Given the description of an element on the screen output the (x, y) to click on. 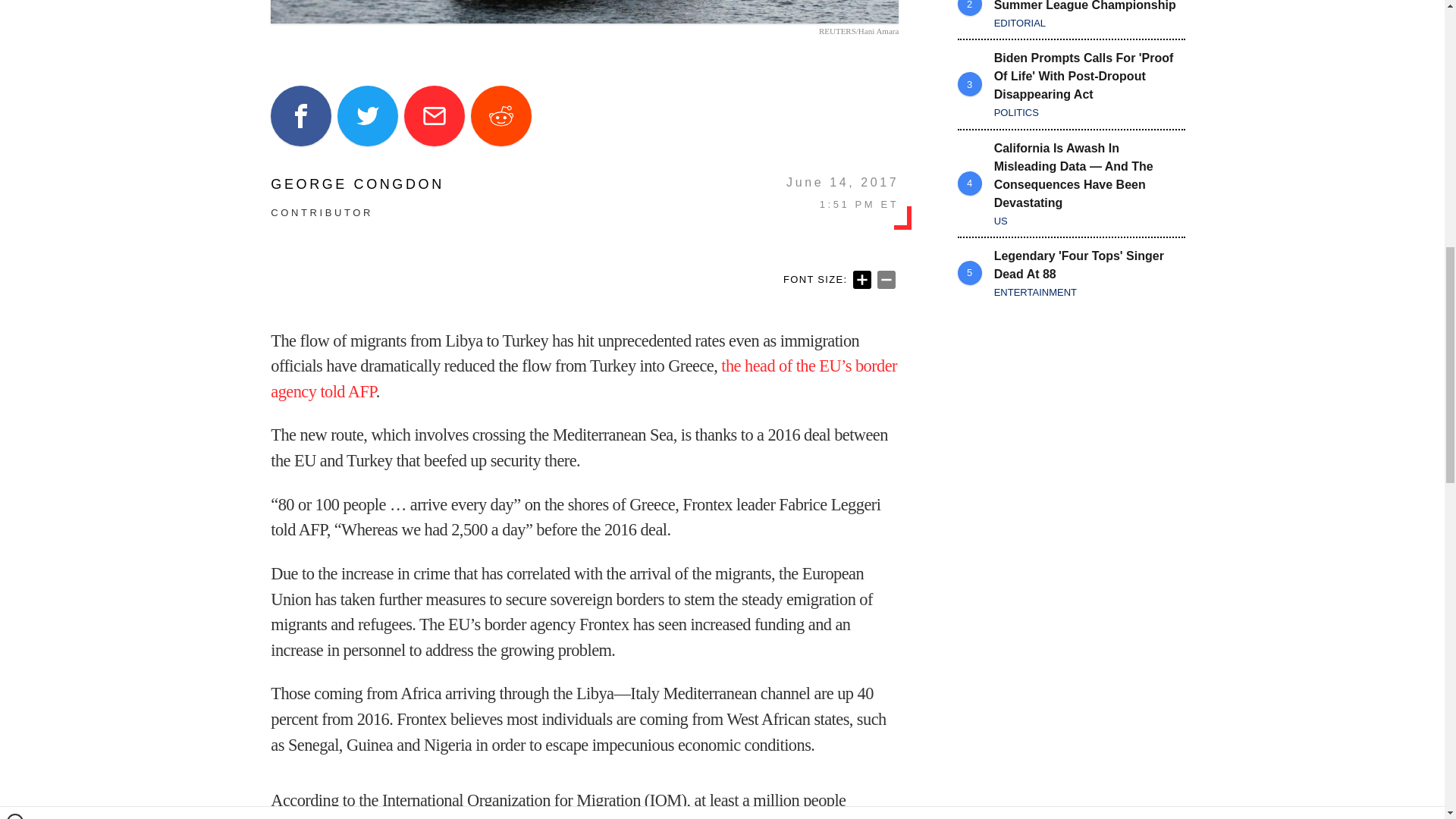
GEORGE CONGDON (357, 184)
Close window (14, 6)
View More Articles By George Congdon (357, 184)
